Given the description of an element on the screen output the (x, y) to click on. 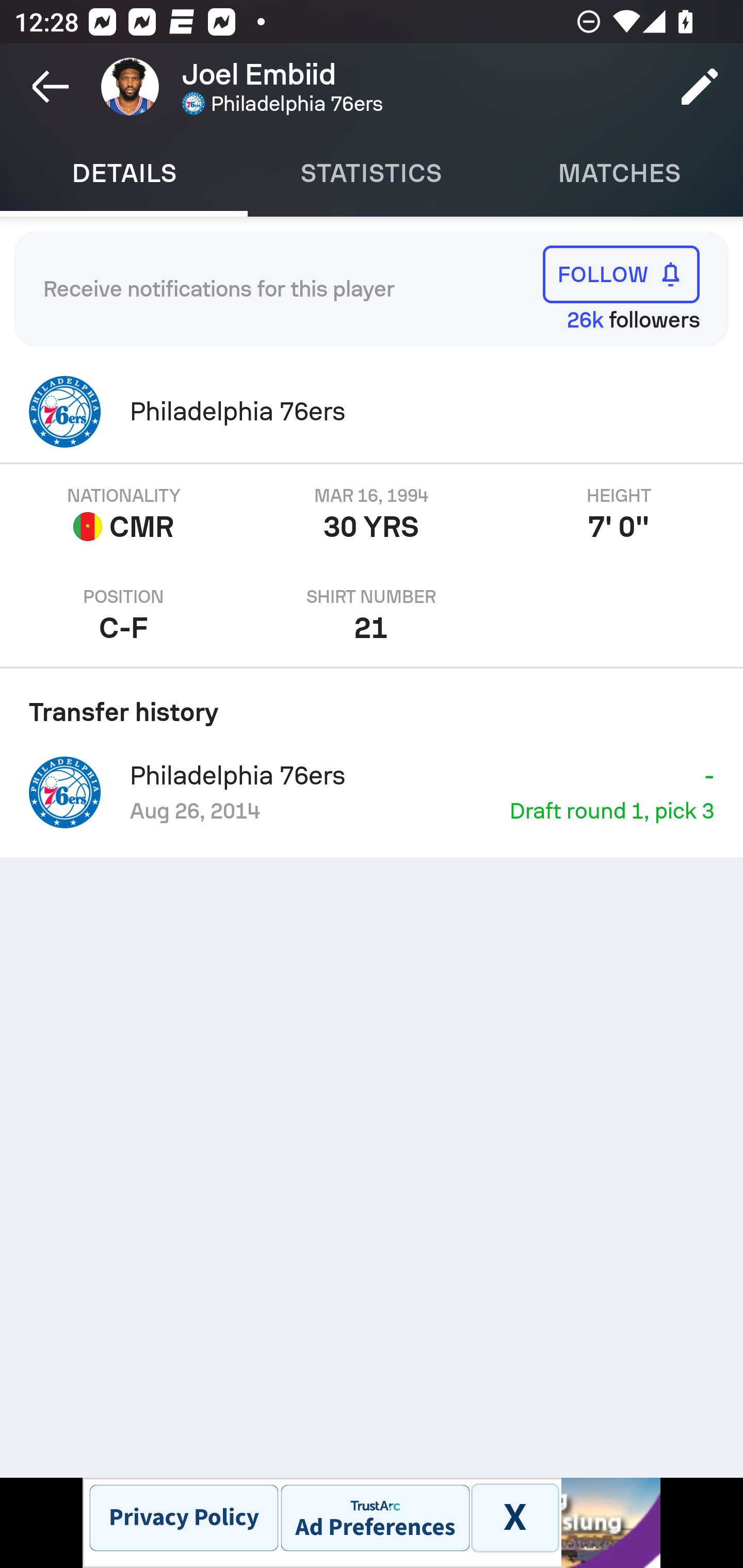
Navigate up (50, 86)
Edit (699, 86)
Statistics STATISTICS (371, 173)
Matches MATCHES (619, 173)
FOLLOW (621, 274)
Philadelphia 76ers (371, 411)
NATIONALITY CMR (123, 515)
POSITION C-F (123, 616)
Transfer history (371, 704)
get?name=ta-btn-privacy (183, 1517)
get?name=btn-ad-preferences-2 (374, 1517)
X (513, 1517)
